Given the description of an element on the screen output the (x, y) to click on. 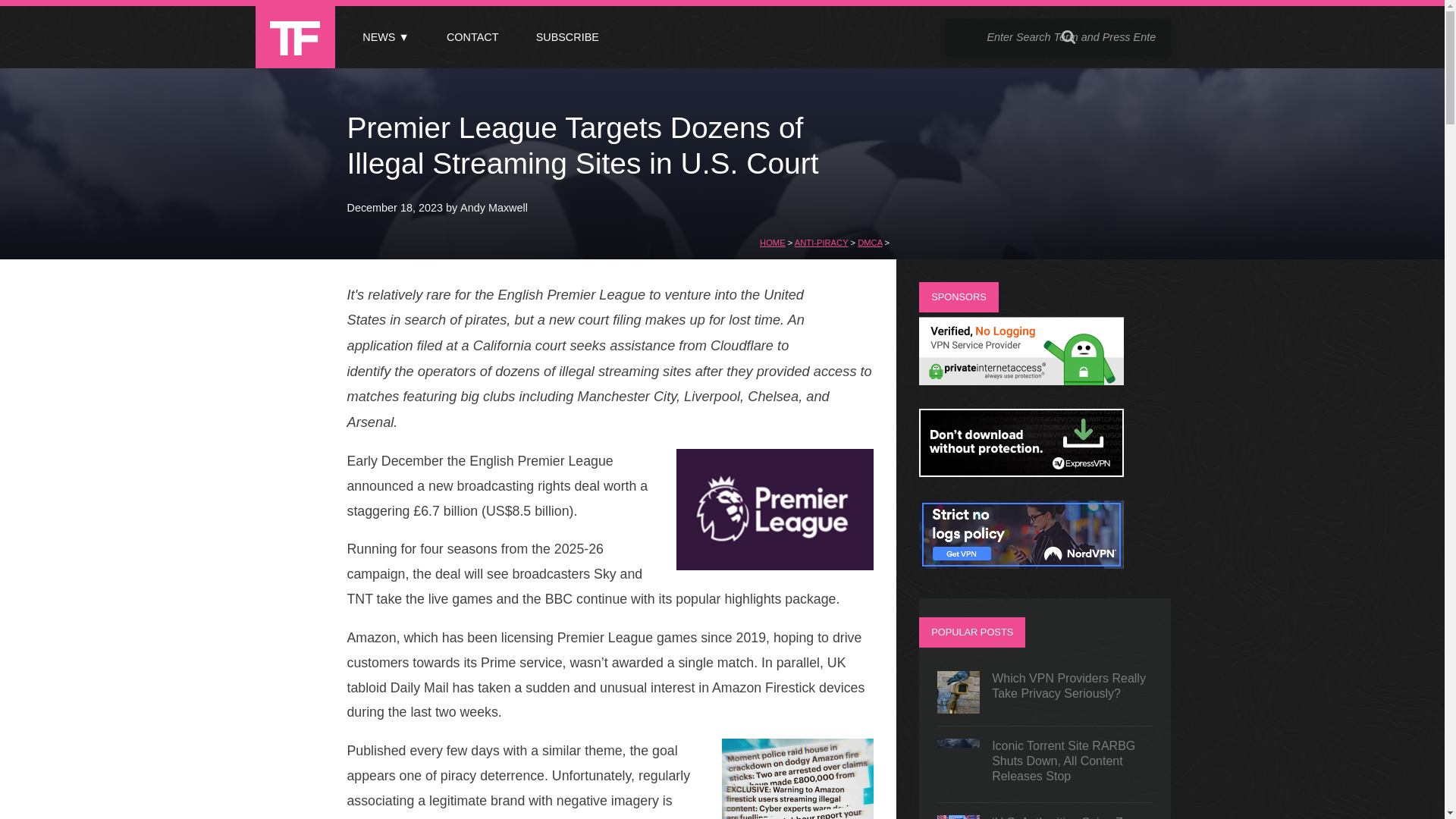
ExpressVPN (1021, 472)
ANTI-PIRACY (821, 242)
Which VPN Providers Really Take Privacy Seriously? (1045, 691)
SUBSCRIBE (566, 37)
DMCA (869, 242)
Go to the DMCA category archives. (869, 242)
CONTACT (471, 37)
Go to the Anti-Piracy category archives. (821, 242)
HOME (773, 242)
Andy Maxwell (493, 207)
Private Internet Access (1021, 380)
Go to TorrentFreak. (773, 242)
